Given the description of an element on the screen output the (x, y) to click on. 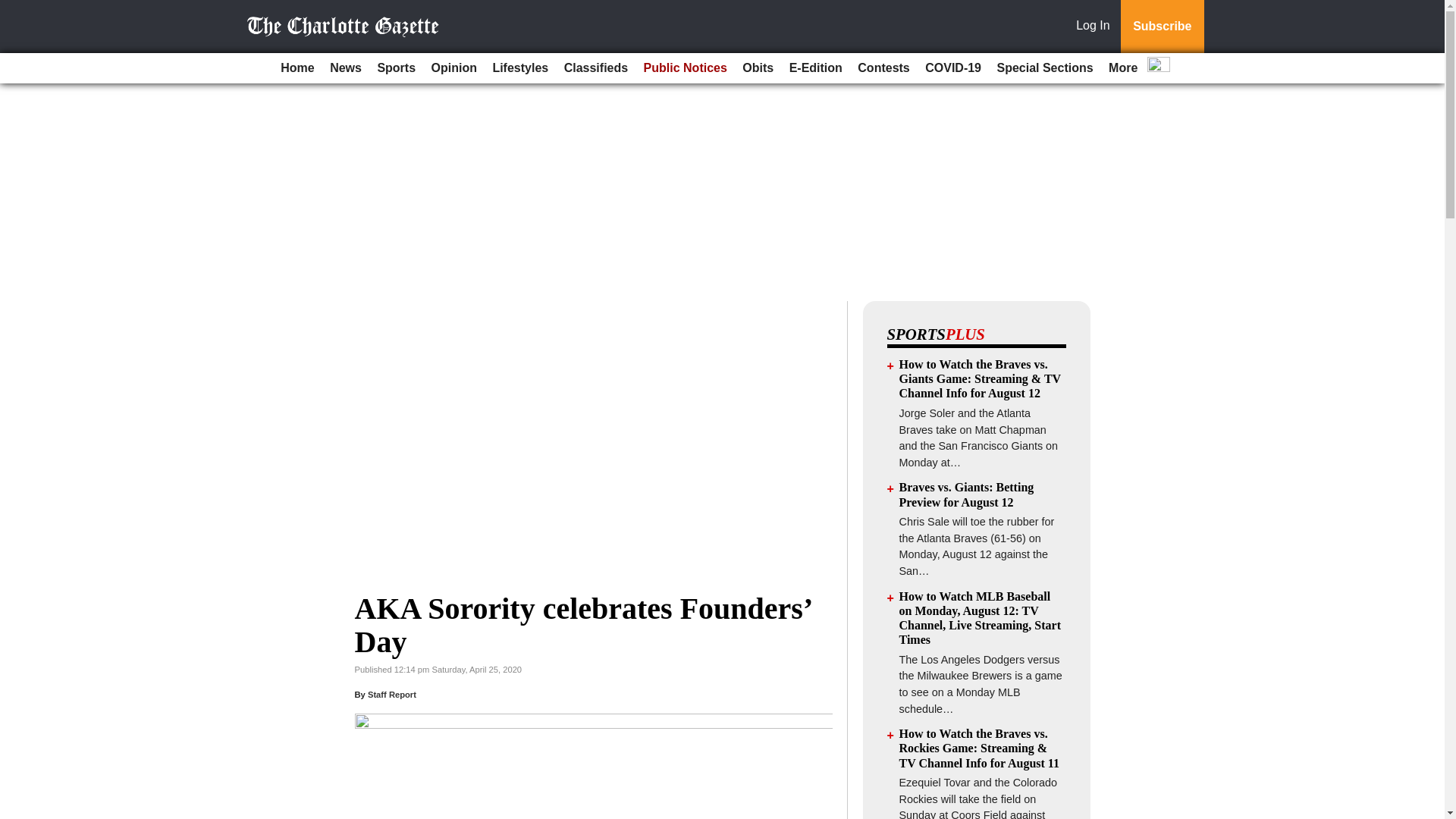
Obits (757, 68)
Home (297, 68)
Public Notices (685, 68)
Sports (396, 68)
Lifestyles (520, 68)
More (1122, 68)
News (345, 68)
Braves vs. Giants: Betting Preview for August 12 (966, 493)
Subscribe (1162, 26)
